Given the description of an element on the screen output the (x, y) to click on. 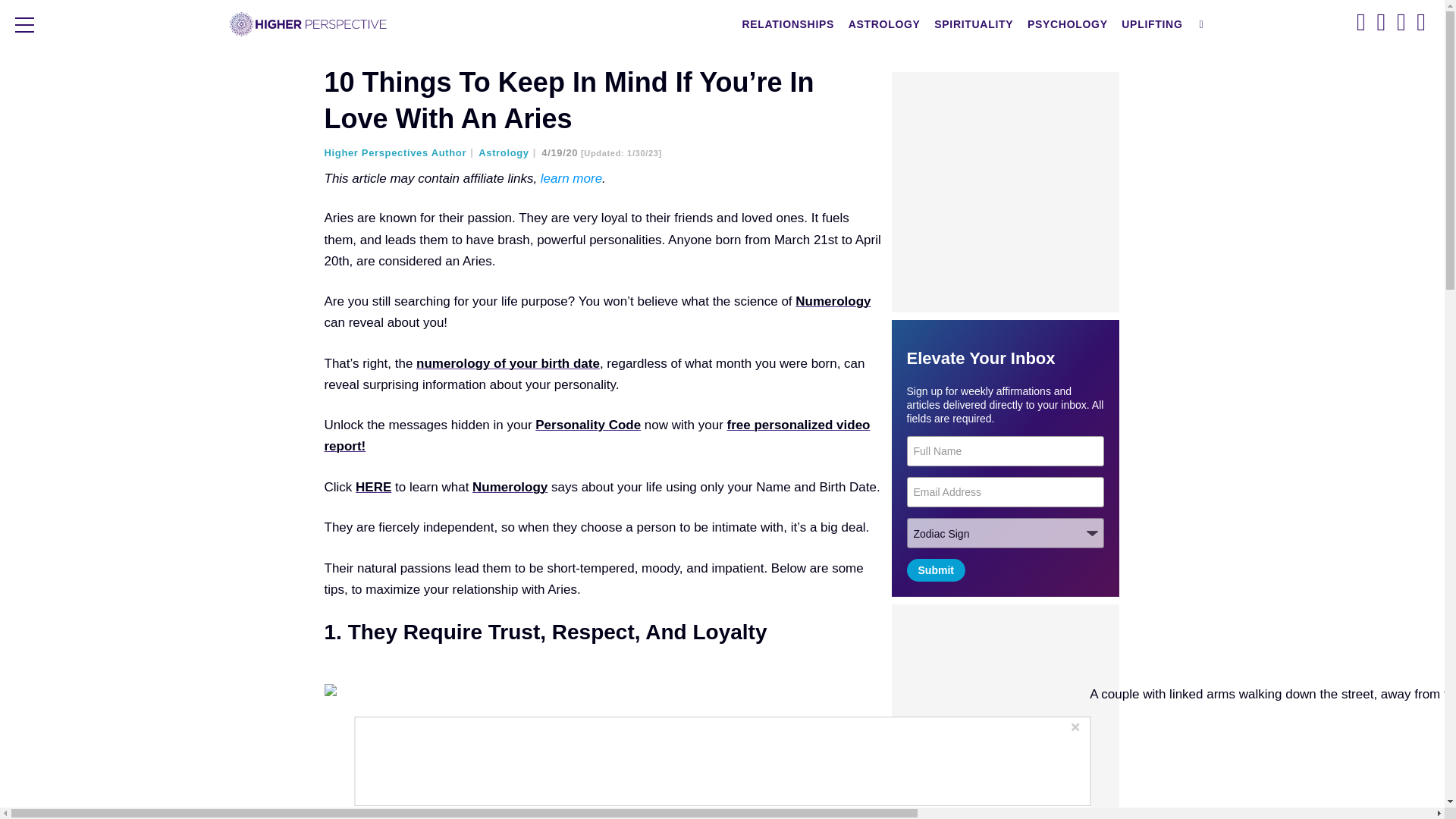
Numerology (509, 486)
Numerology (832, 301)
SPIRITUALITY (972, 24)
Posts by Higher Perspectives Author (400, 152)
RELATIONSHIPS (788, 24)
PSYCHOLOGY (1067, 24)
HERE (373, 486)
learn more (571, 178)
Personality Code (587, 424)
free personalized video report! (597, 435)
